Given the description of an element on the screen output the (x, y) to click on. 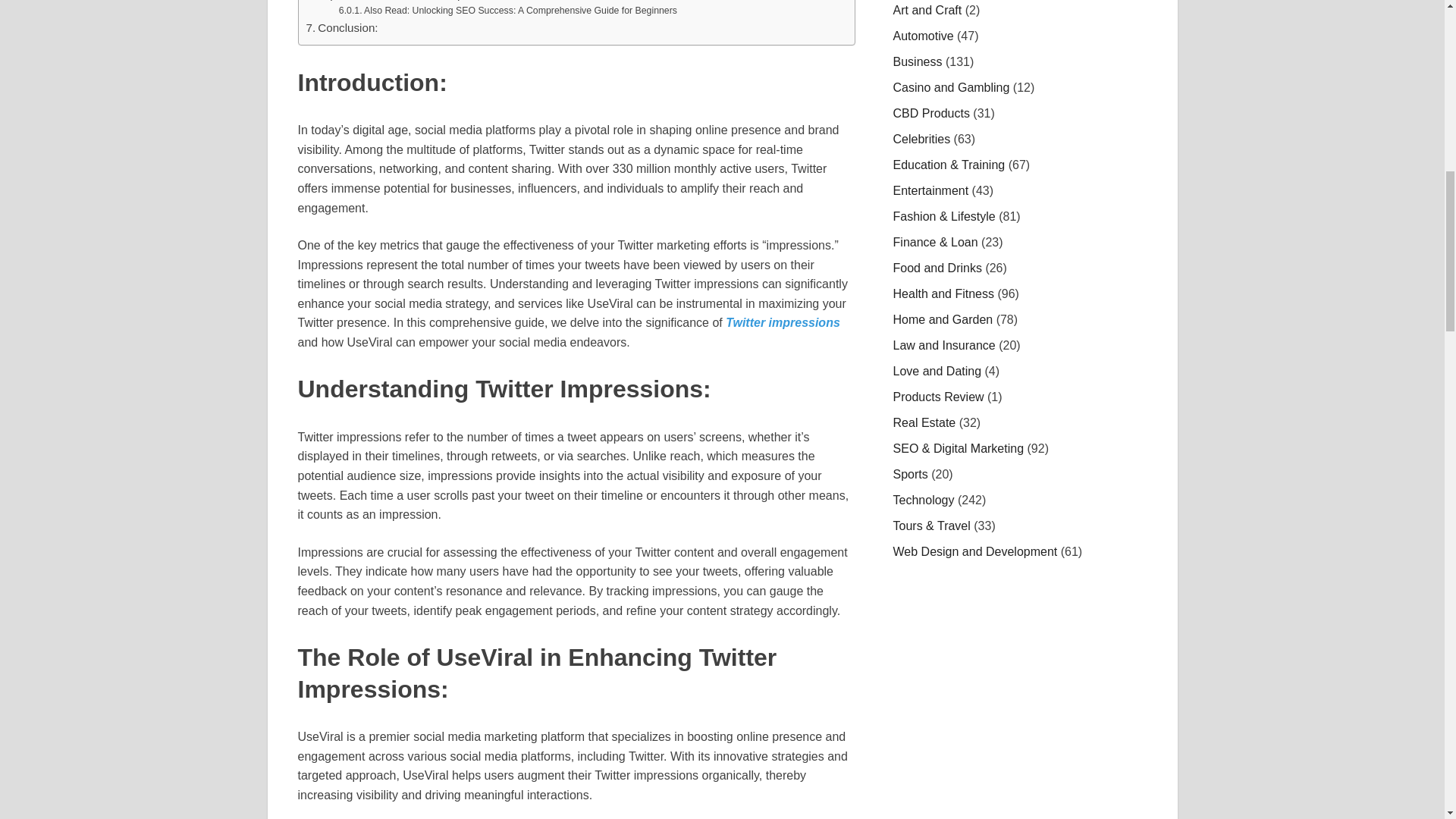
Conclusion: (341, 27)
Twitter impressions (781, 322)
Conclusion: (341, 27)
